Given the description of an element on the screen output the (x, y) to click on. 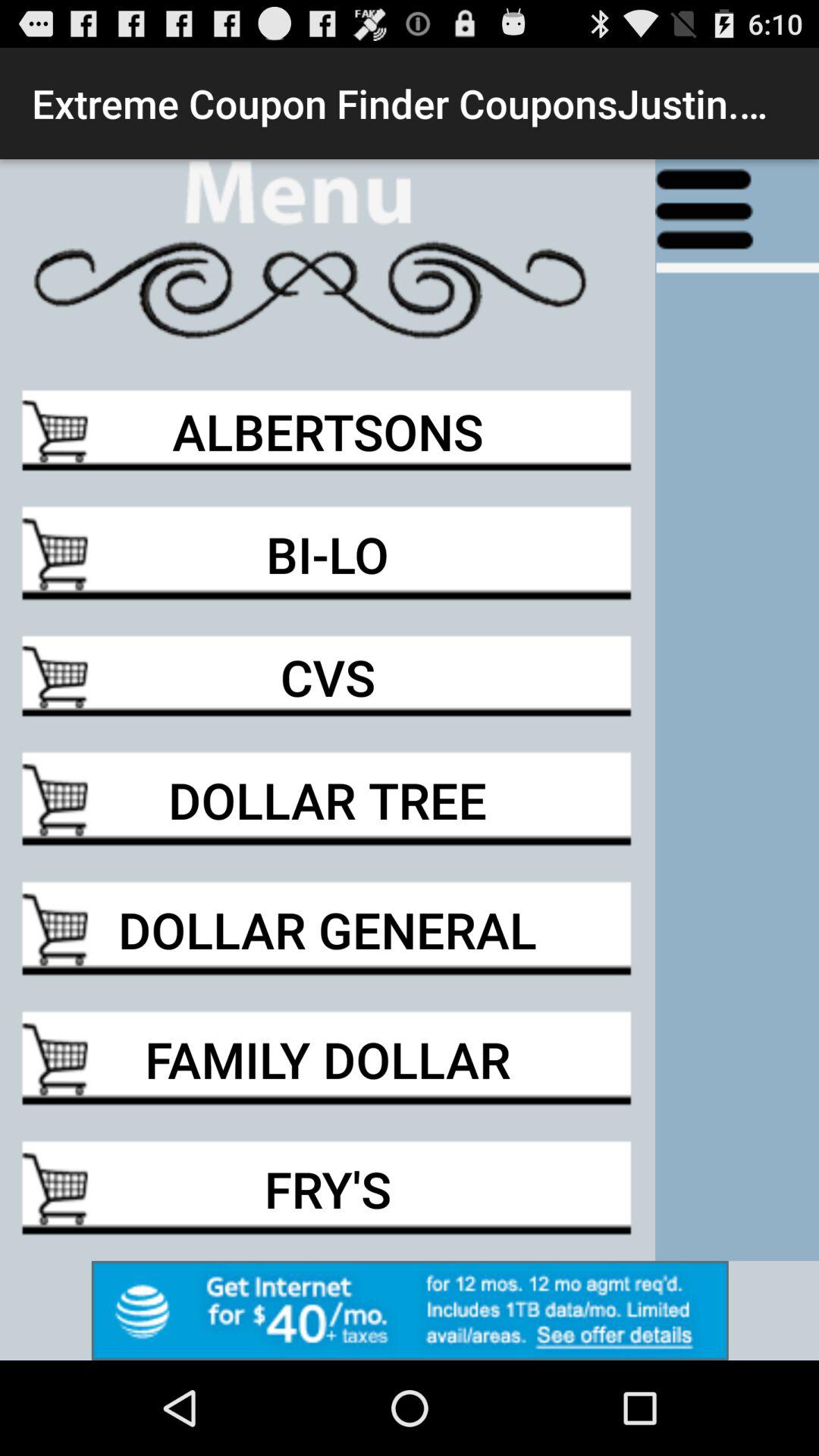
advertisement at bottom (409, 1310)
